Given the description of an element on the screen output the (x, y) to click on. 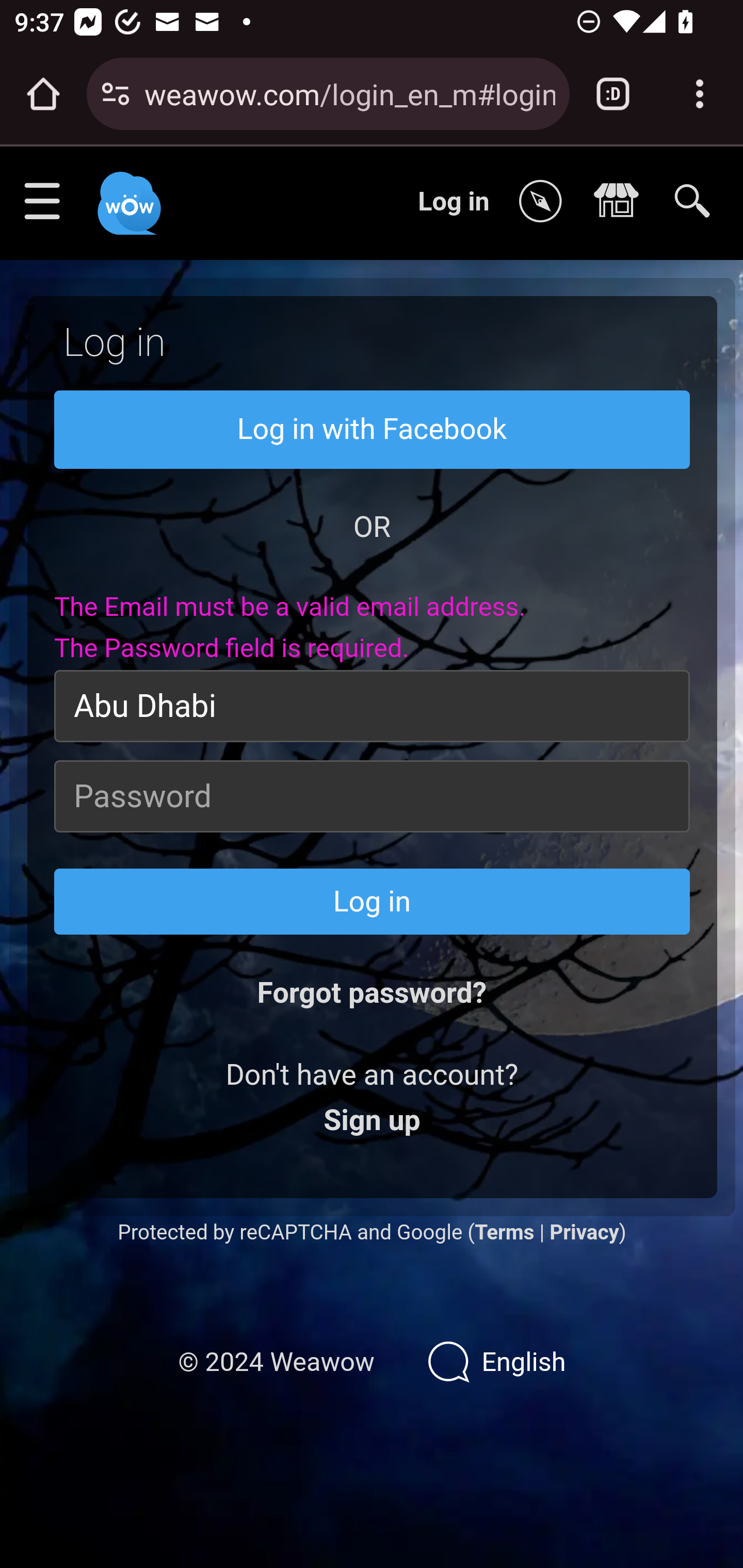
Open the home page (43, 93)
Connection is secure (115, 93)
Switch or close tabs (612, 93)
Customize and control Google Chrome (699, 93)
weawow.com/login_en_m#login (349, 92)
Weawow (127, 194)
 (545, 201)
 (621, 201)
Log in (453, 201)
Abu Dhabi (372, 706)
Log in (372, 902)
Forgot password? (371, 993)
Sign up (371, 1120)
Terms (503, 1231)
Privacy (583, 1231)
© 2024 Weawow (275, 1362)
